Given the description of an element on the screen output the (x, y) to click on. 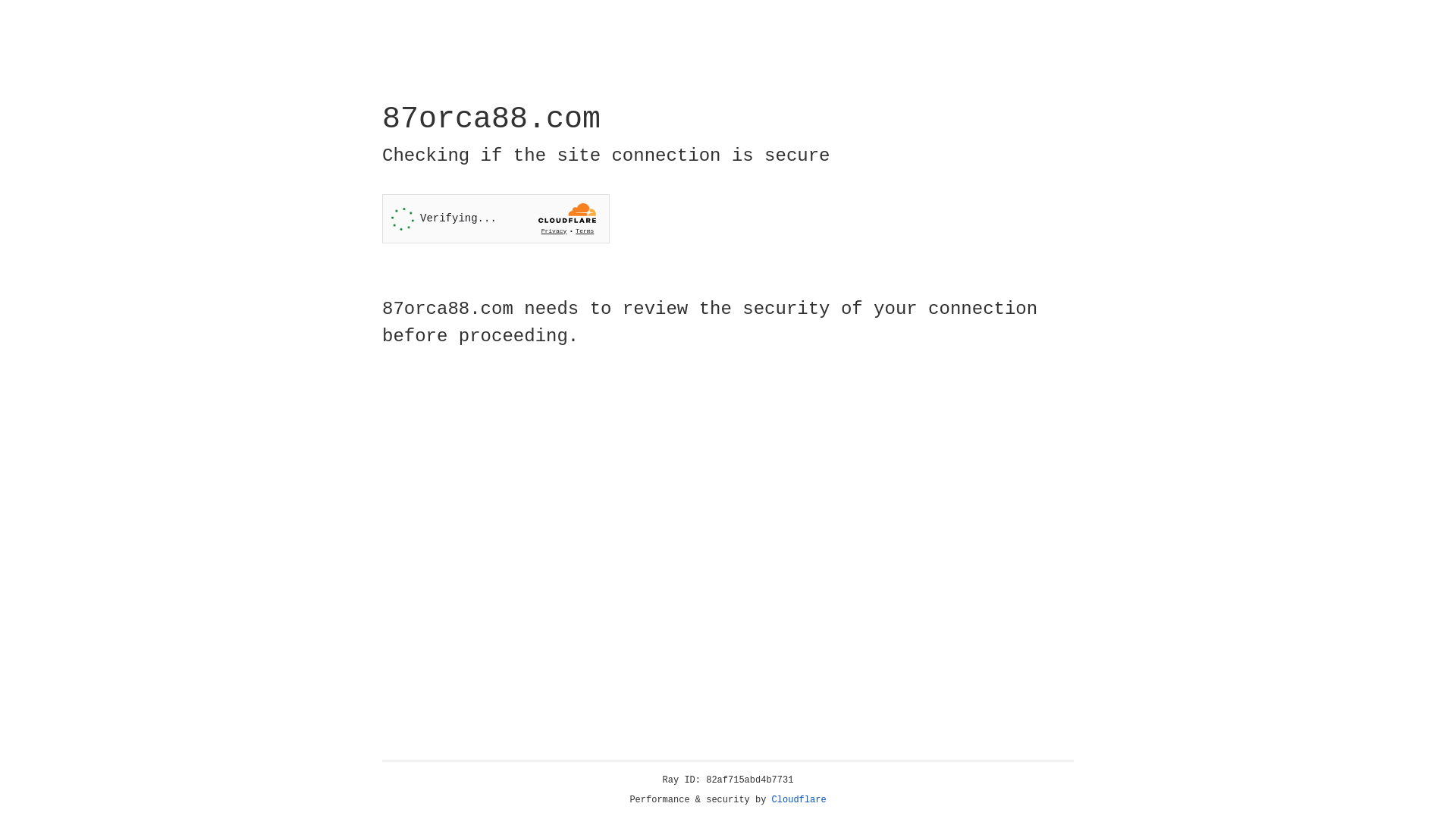
Widget containing a Cloudflare security challenge Element type: hover (495, 218)
Cloudflare Element type: text (798, 799)
